Given the description of an element on the screen output the (x, y) to click on. 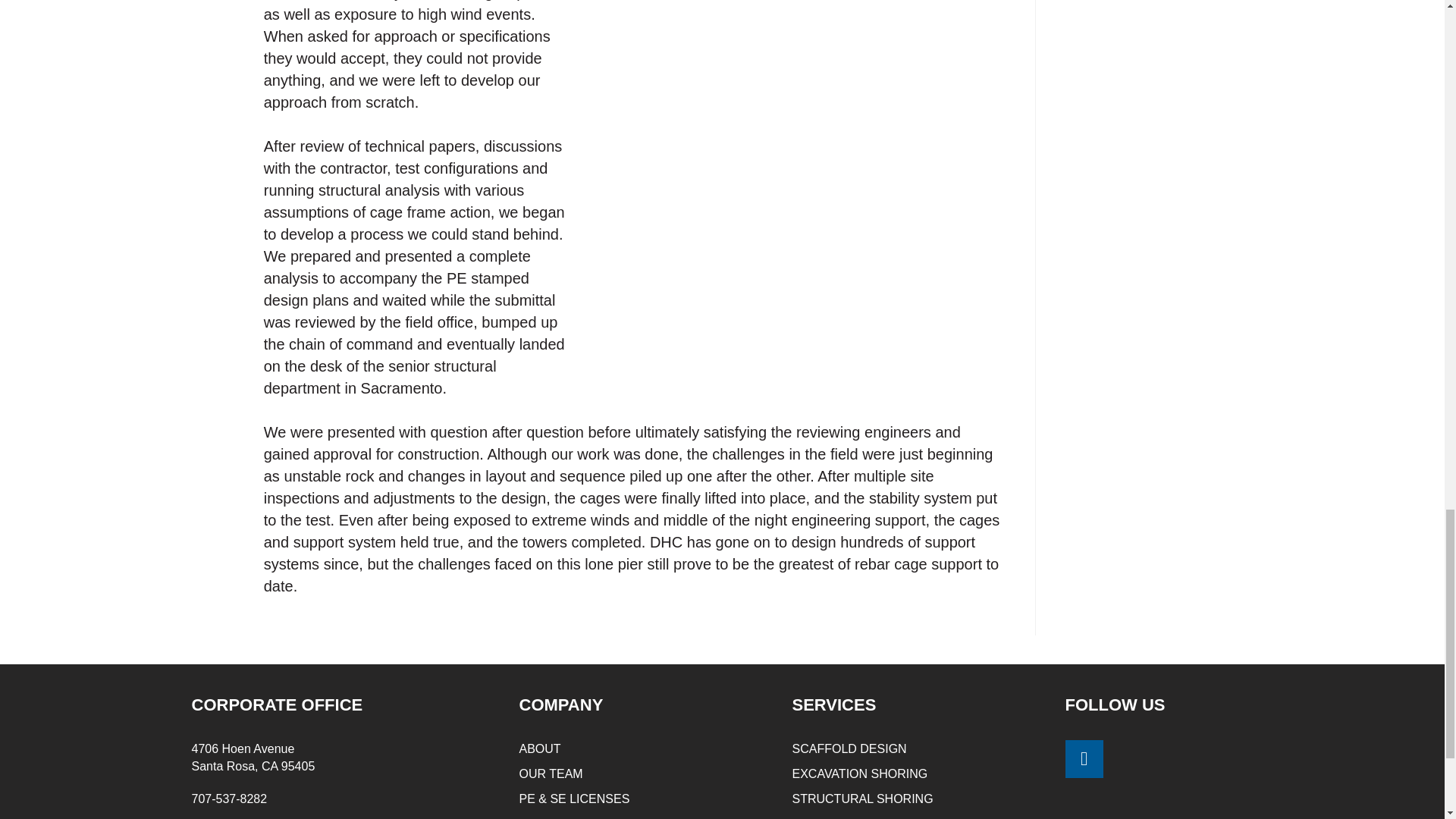
707-537-8282 (228, 798)
